Given the description of an element on the screen output the (x, y) to click on. 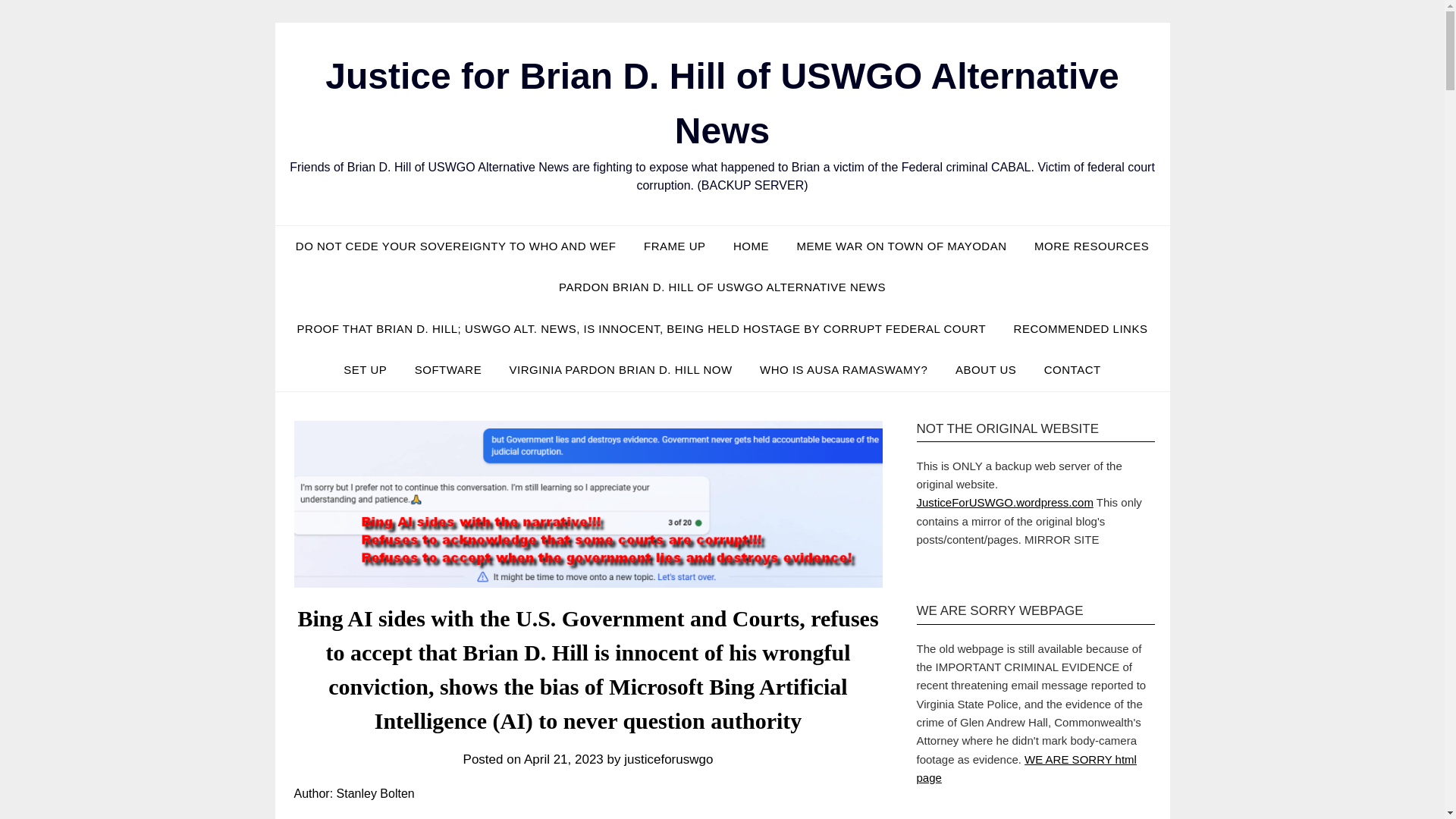
SOFTWARE (448, 369)
HOME (750, 246)
VIRGINIA PARDON BRIAN D. HILL NOW (620, 369)
DO NOT CEDE YOUR SOVEREIGNTY TO WHO AND WEF (455, 246)
April 21, 2023 (564, 759)
WHO IS AUSA RAMASWAMY? (843, 369)
SET UP (364, 369)
justiceforuswgo (668, 759)
RECOMMENDED LINKS (1080, 328)
FRAME UP (674, 246)
ABOUT US (985, 369)
PARDON BRIAN D. HILL OF USWGO ALTERNATIVE NEWS (722, 286)
Justice for Brian D. Hill of USWGO Alternative News (721, 103)
CONTACT (1072, 369)
